Given the description of an element on the screen output the (x, y) to click on. 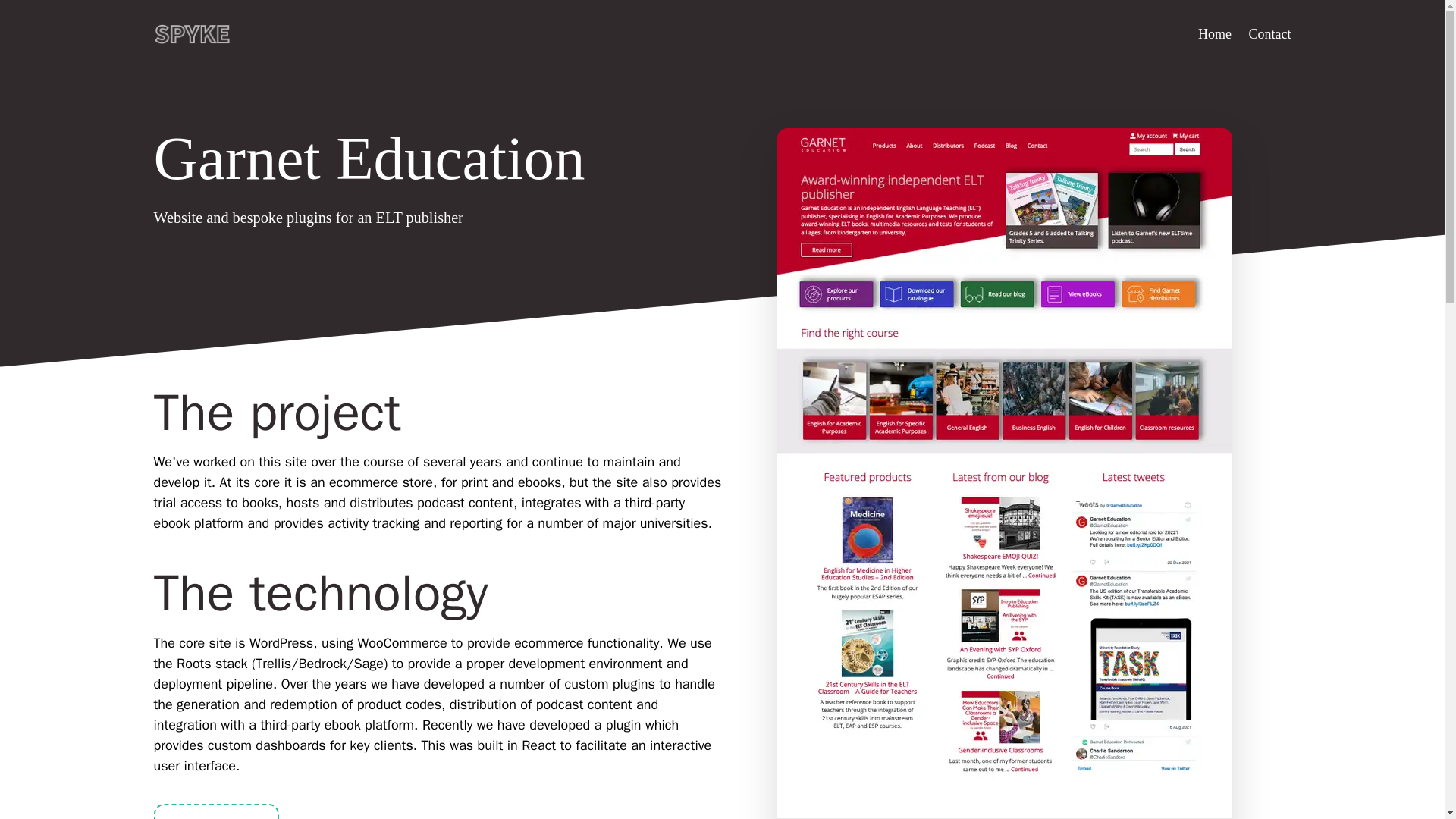
Contact (1261, 34)
Home (1214, 34)
Visit the site (215, 811)
